Given the description of an element on the screen output the (x, y) to click on. 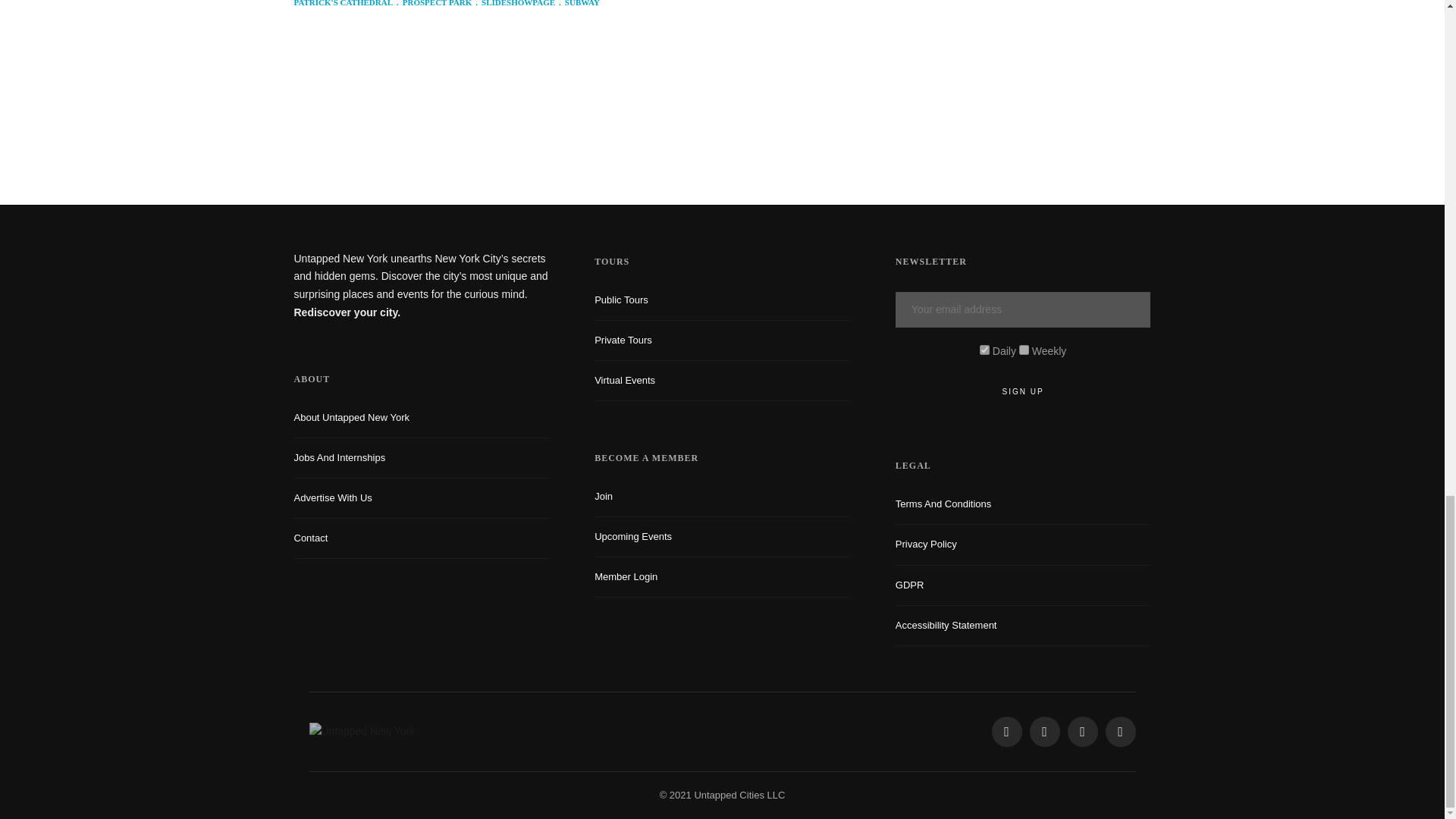
Sign up (1023, 391)
7cff6a70fd (1024, 349)
e99a09560c (984, 349)
